Given the description of an element on the screen output the (x, y) to click on. 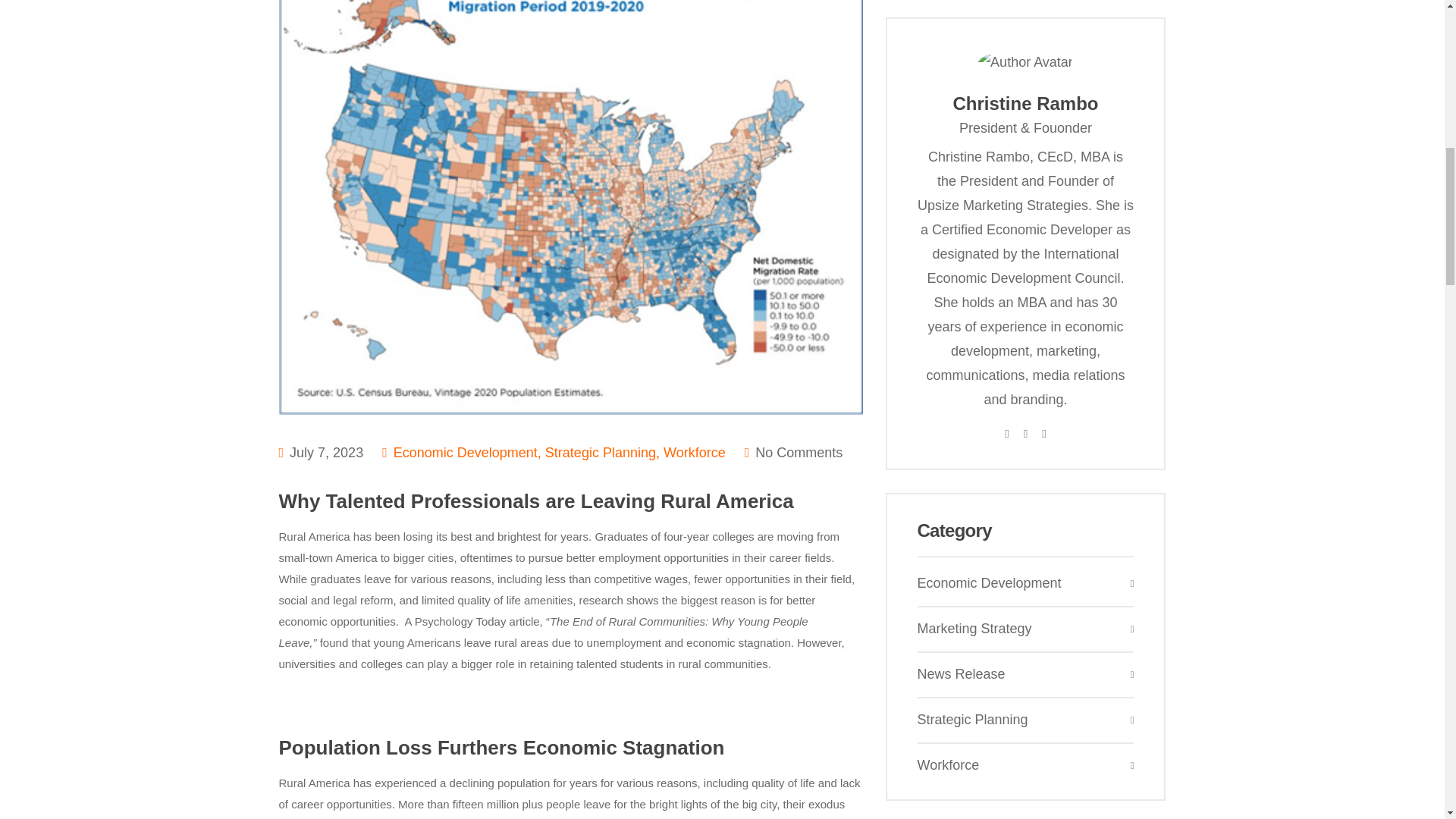
Twitter (1024, 432)
Facebook (1005, 432)
Instagram (1043, 432)
